Given the description of an element on the screen output the (x, y) to click on. 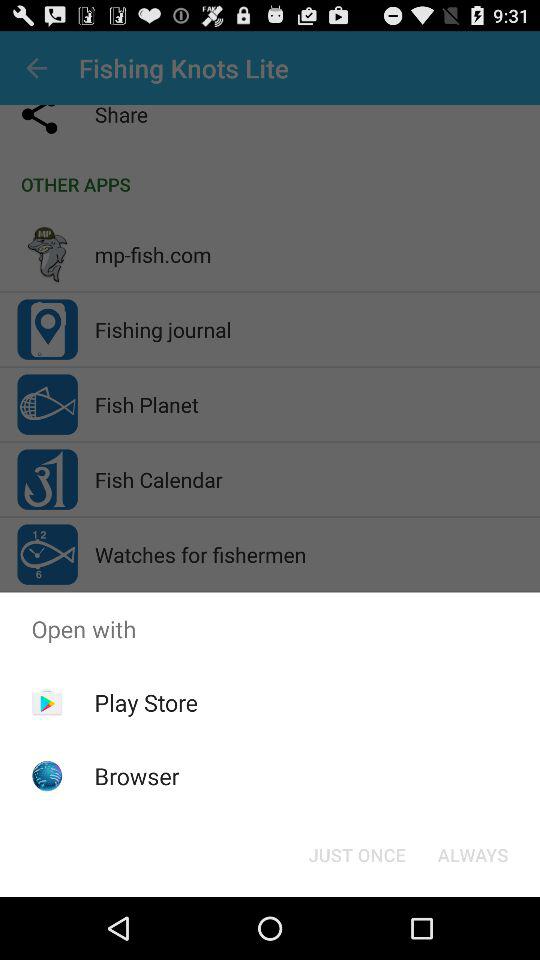
scroll to always (472, 854)
